Given the description of an element on the screen output the (x, y) to click on. 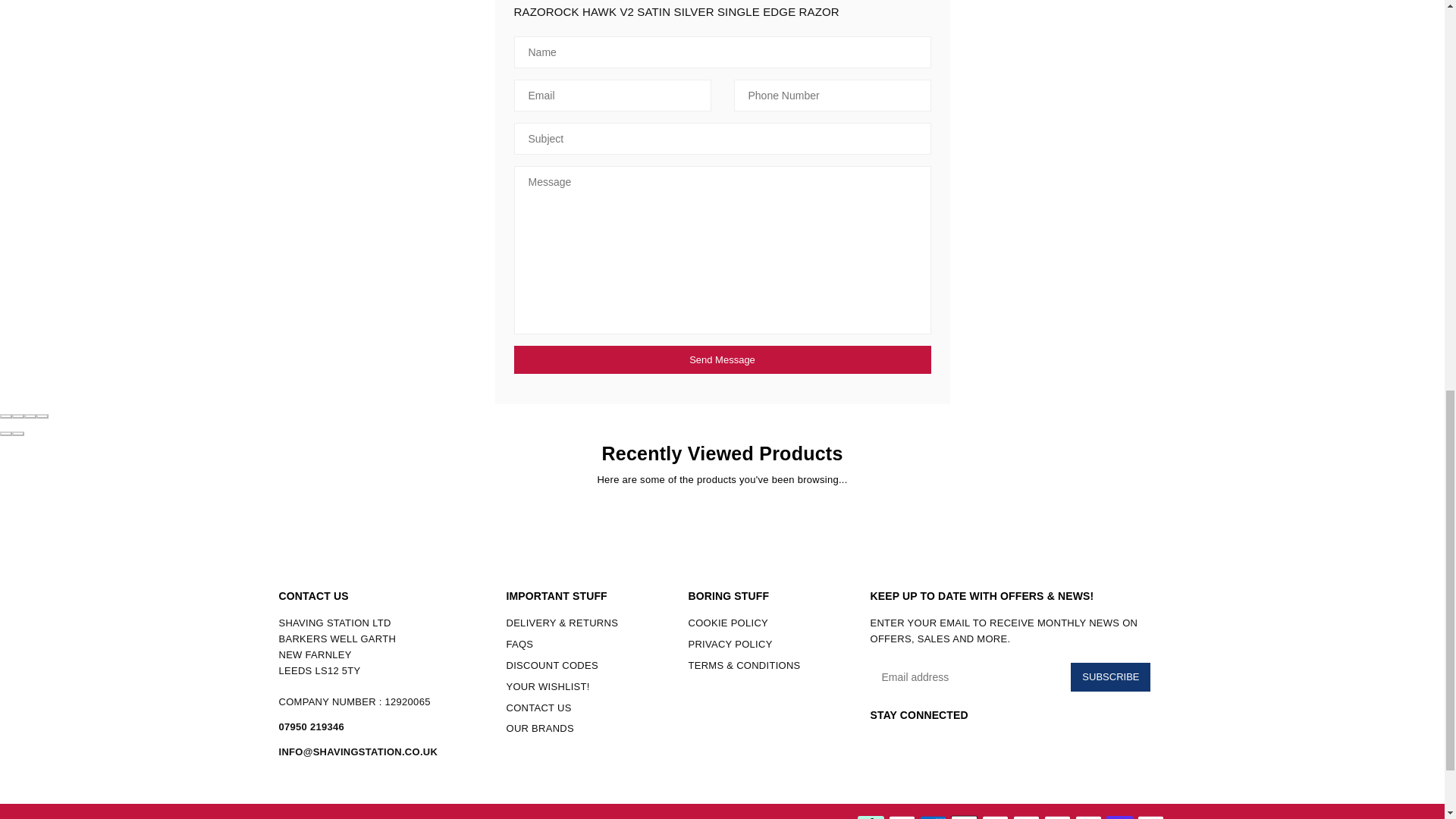
APPLE PAY (963, 816)
AMERICAN EXPRESS (931, 816)
SUBSCRIBE (1110, 676)
Send Message (722, 359)
Toggle fullscreen (30, 416)
Share (17, 416)
CLEARPAY (870, 816)
MAESTRO (1026, 816)
VISA (1150, 816)
PAYPAL (1088, 816)
AMAZON (901, 816)
MASTERCARD (1056, 816)
GOOGLE PAY (994, 816)
SHOP PAY (1118, 816)
